Given the description of an element on the screen output the (x, y) to click on. 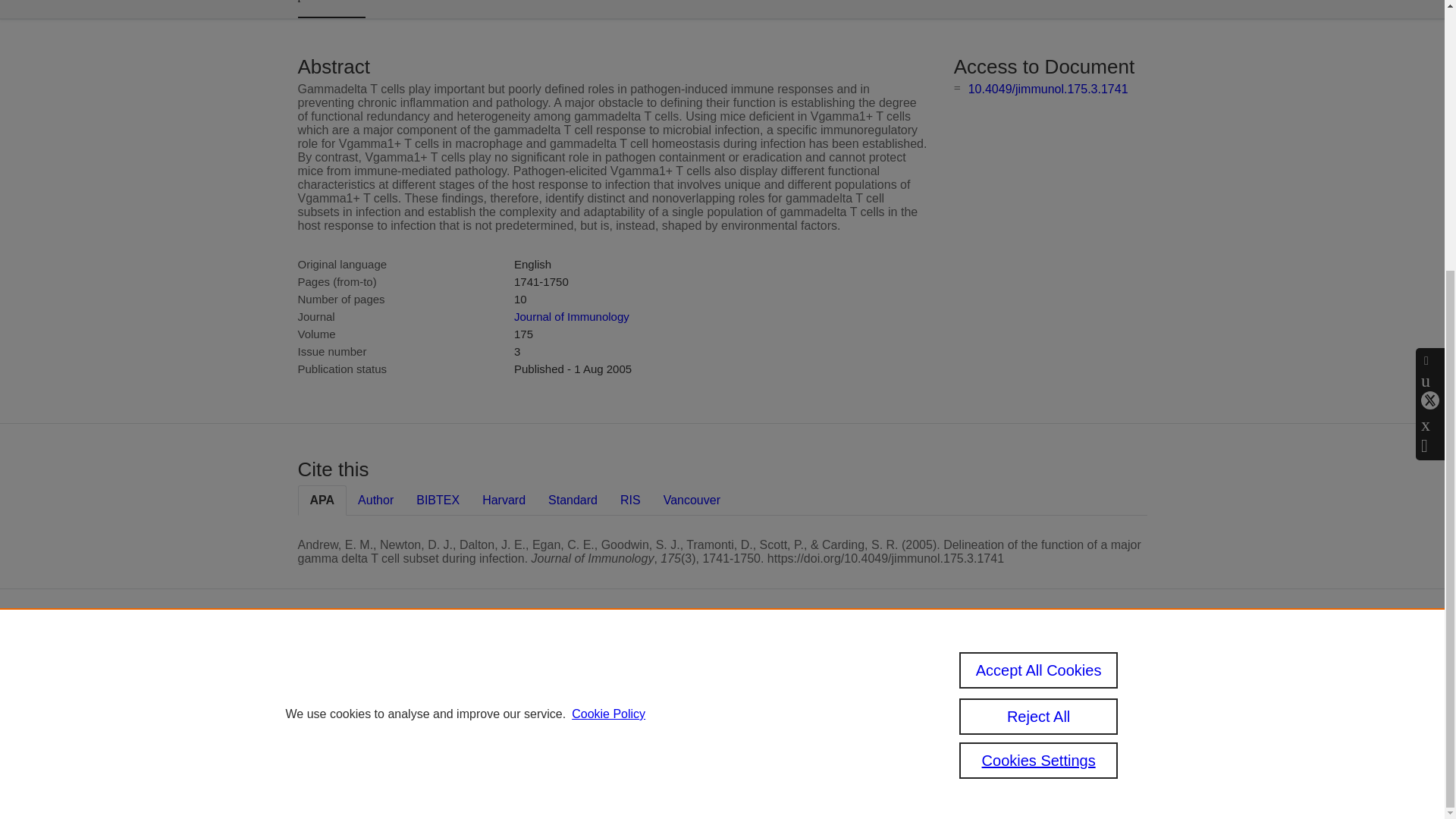
Cookies Settings (591, 760)
University of East Anglia data protection policy (1027, 675)
Elsevier B.V. (764, 685)
Log in to Pure (584, 780)
Pure (620, 664)
Cookie Policy (608, 318)
Report vulnerability (1021, 739)
Overview (331, 9)
Scopus (652, 664)
About web accessibility (1005, 712)
Journal of Immunology (570, 316)
use of cookies (660, 739)
Contact us (1125, 670)
